Given the description of an element on the screen output the (x, y) to click on. 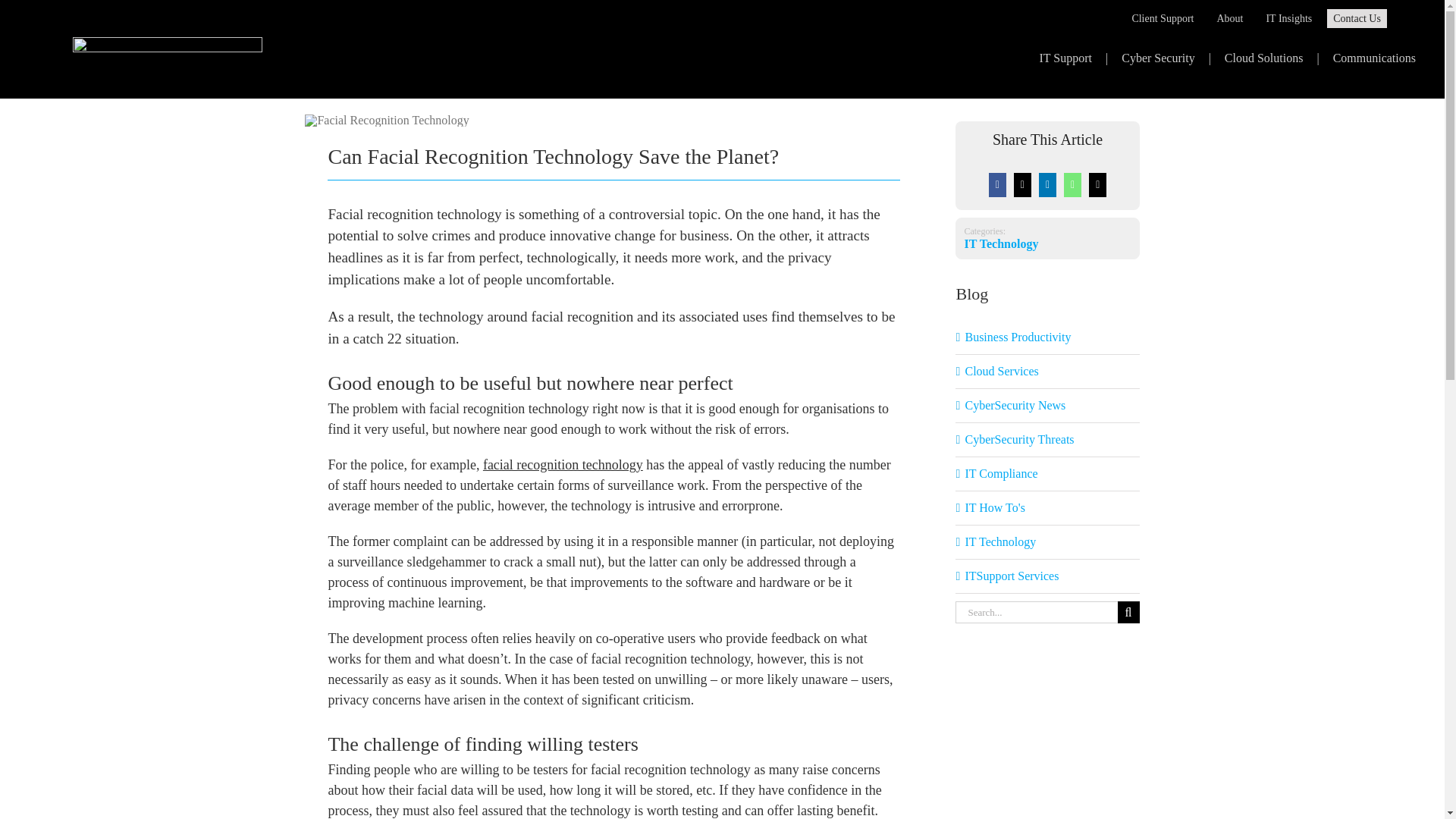
X (1022, 184)
Contact Us (1356, 18)
IT Technology (1047, 542)
WhatsApp (1071, 184)
IT Compliance (1047, 474)
IT How To's (1047, 507)
Client Support (1173, 18)
Cloud Services (1047, 371)
CyberSecurity Threats (1047, 439)
Facebook (997, 184)
About (1240, 18)
Facial-Recognition-Technology copy (386, 120)
ITSupport Services (1047, 576)
Communications (1374, 58)
IT Insights (1288, 18)
